Given the description of an element on the screen output the (x, y) to click on. 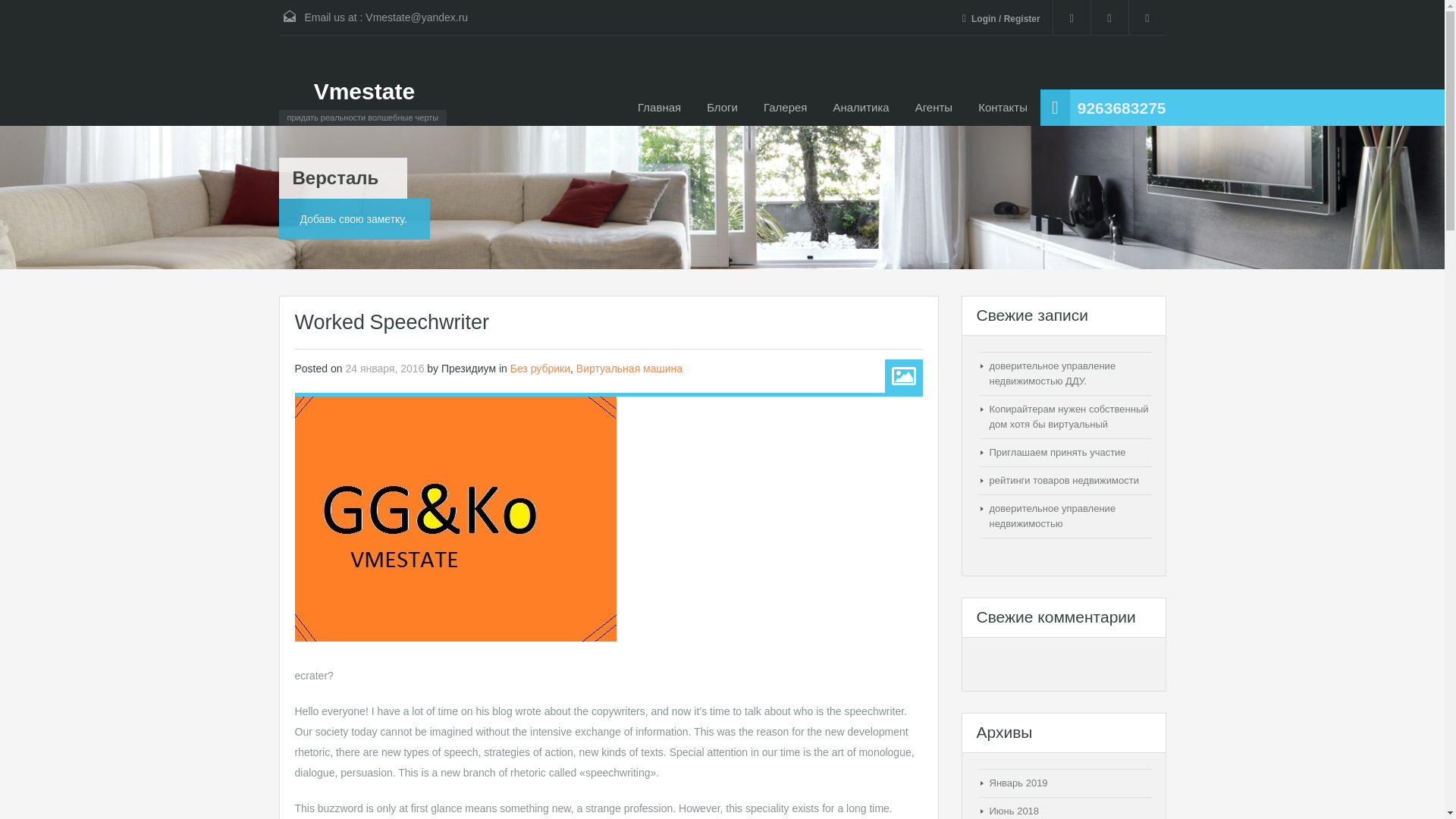
Vmestate (364, 91)
Worked Speechwriter (454, 517)
Vmestate (364, 91)
